Given the description of an element on the screen output the (x, y) to click on. 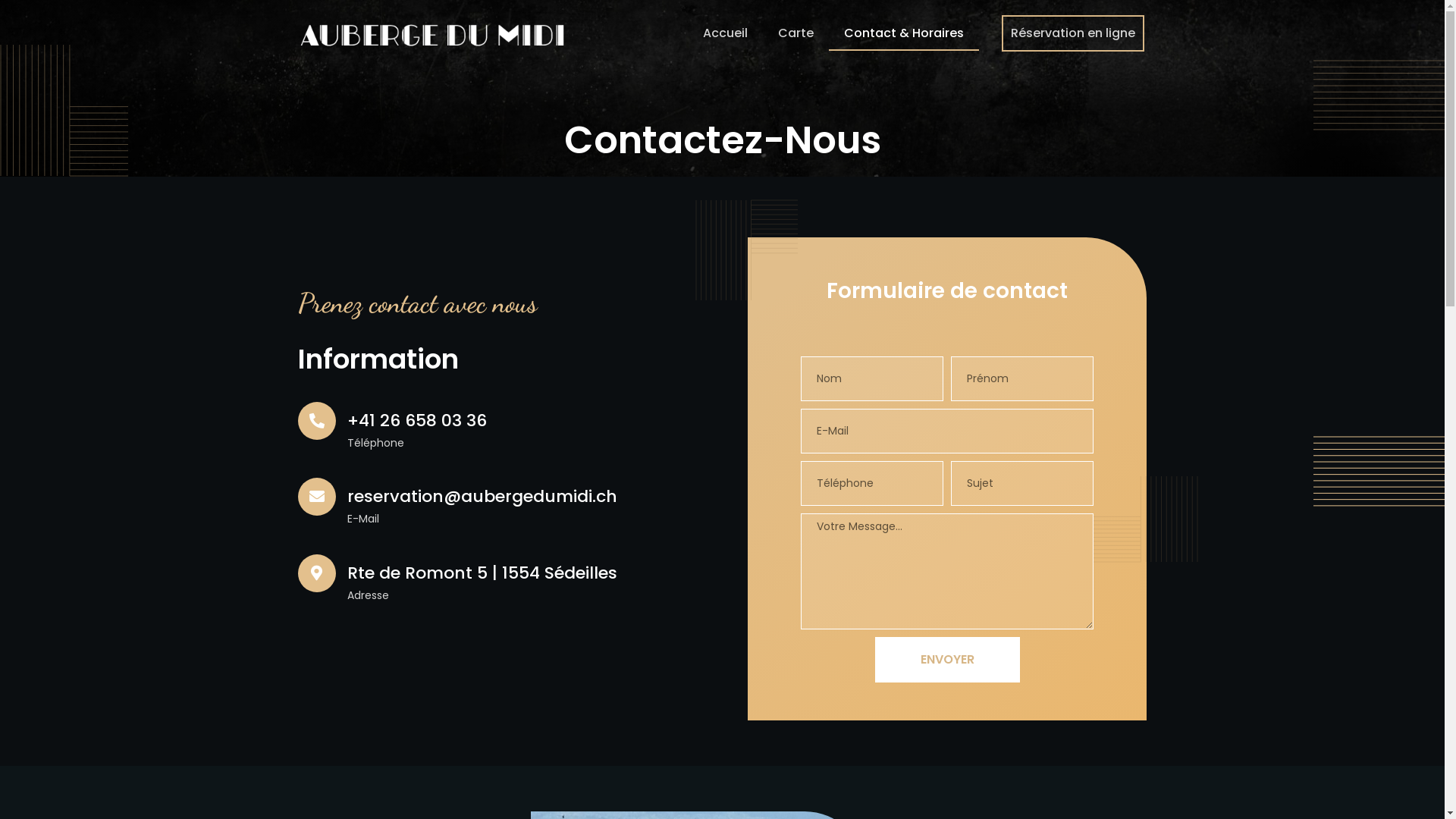
Accueil Element type: text (724, 32)
Contact & Horaires Element type: text (903, 32)
+41 26 658 03 36 Element type: text (416, 420)
ENVOYER Element type: text (947, 659)
Carte Element type: text (795, 32)
reservation@aubergedumidi.ch Element type: text (482, 496)
